Given the description of an element on the screen output the (x, y) to click on. 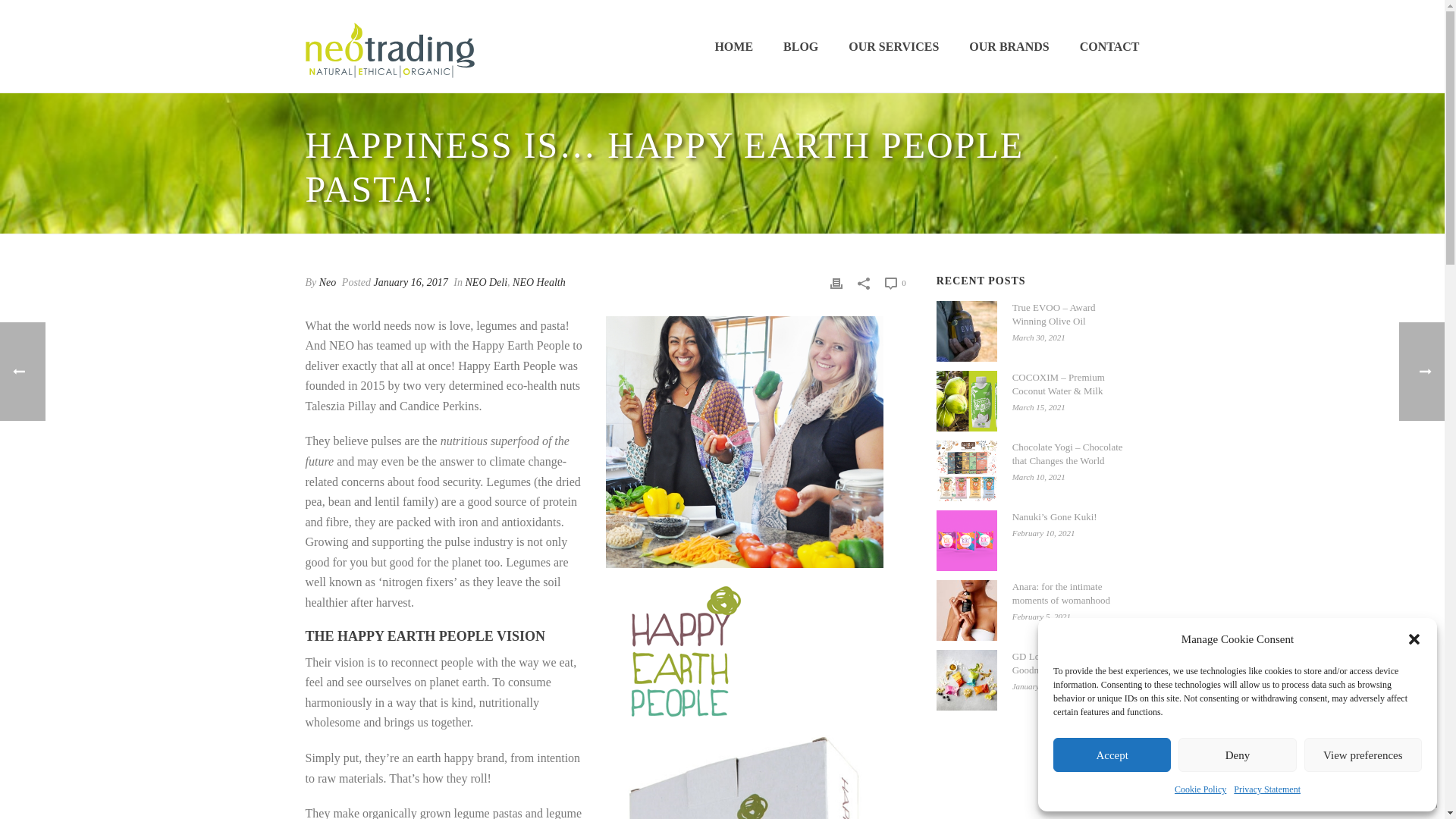
Accept (1111, 754)
NEO Deli (486, 282)
Cookie Policy (1199, 789)
BLOG (800, 46)
Neo (327, 282)
HOME (733, 46)
Deny (1236, 754)
OUR SERVICES (892, 46)
OUR BRANDS (1008, 46)
HOME (733, 46)
